Given the description of an element on the screen output the (x, y) to click on. 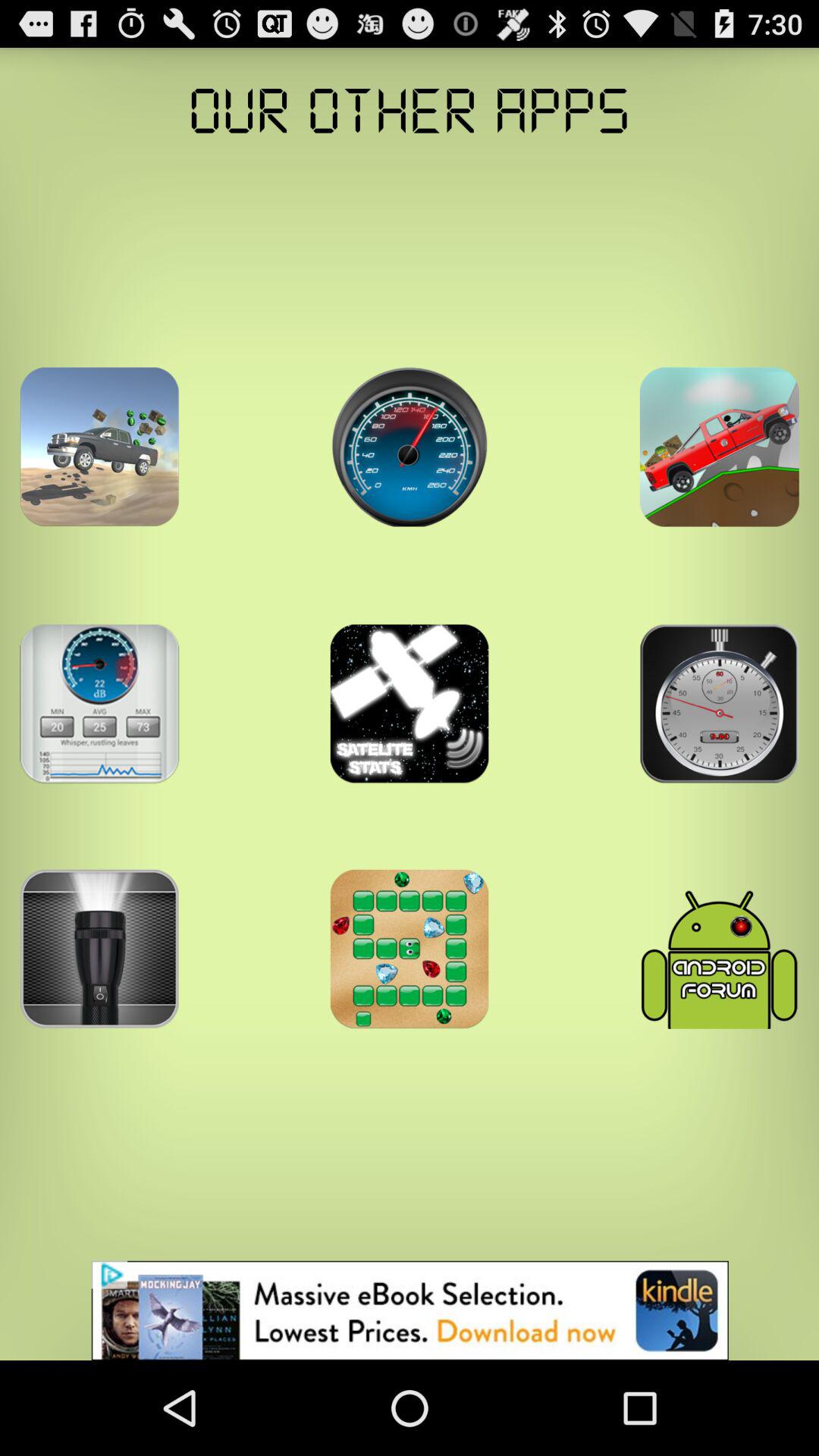
to select the icon go to particular option (409, 446)
